Given the description of an element on the screen output the (x, y) to click on. 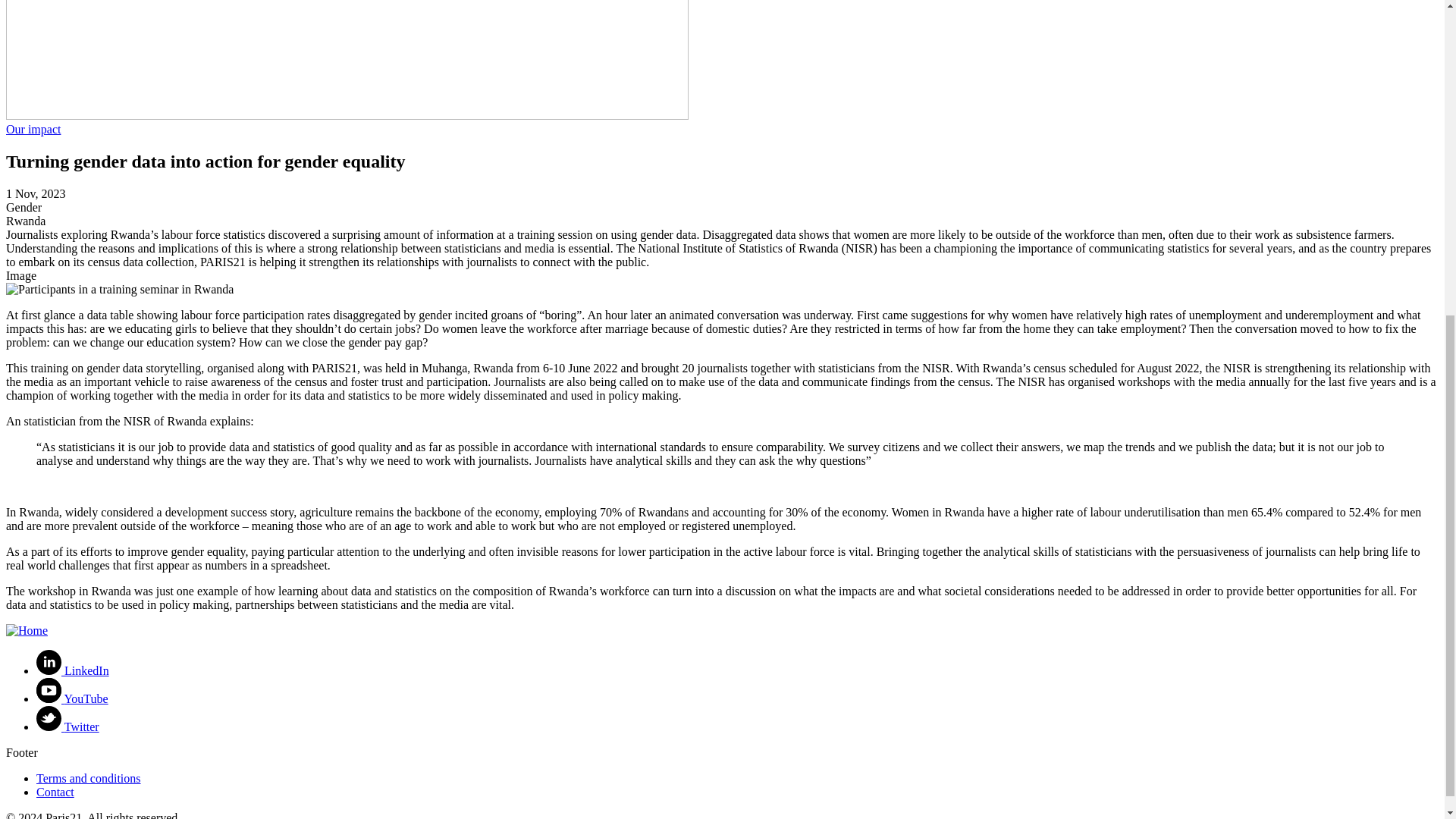
YouTube (71, 698)
Twitter (67, 726)
Our impact (33, 128)
Terms and conditions (88, 778)
Contact (55, 791)
LinkedIn (72, 670)
